Given the description of an element on the screen output the (x, y) to click on. 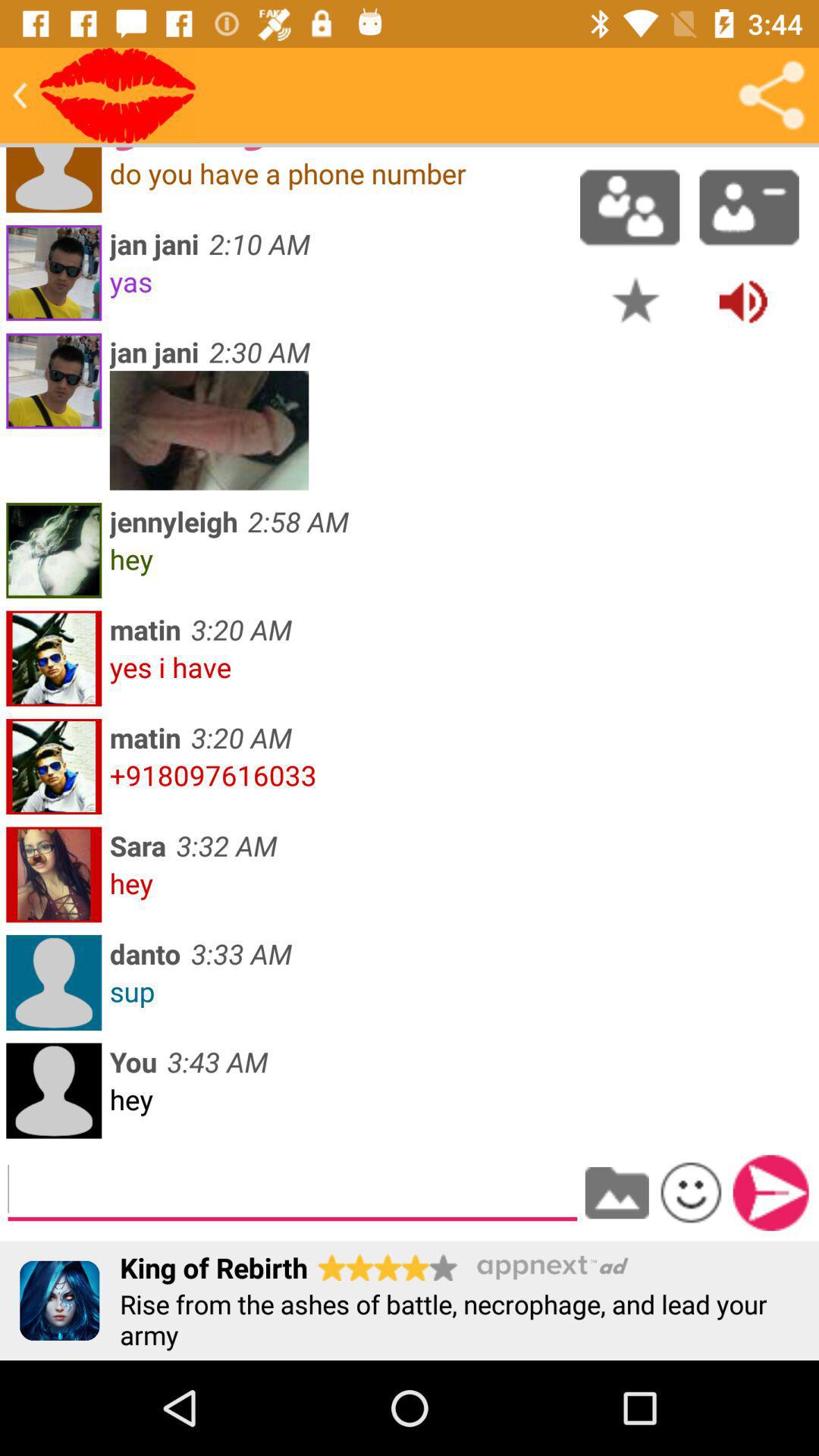
add emogi (690, 1192)
